Given the description of an element on the screen output the (x, y) to click on. 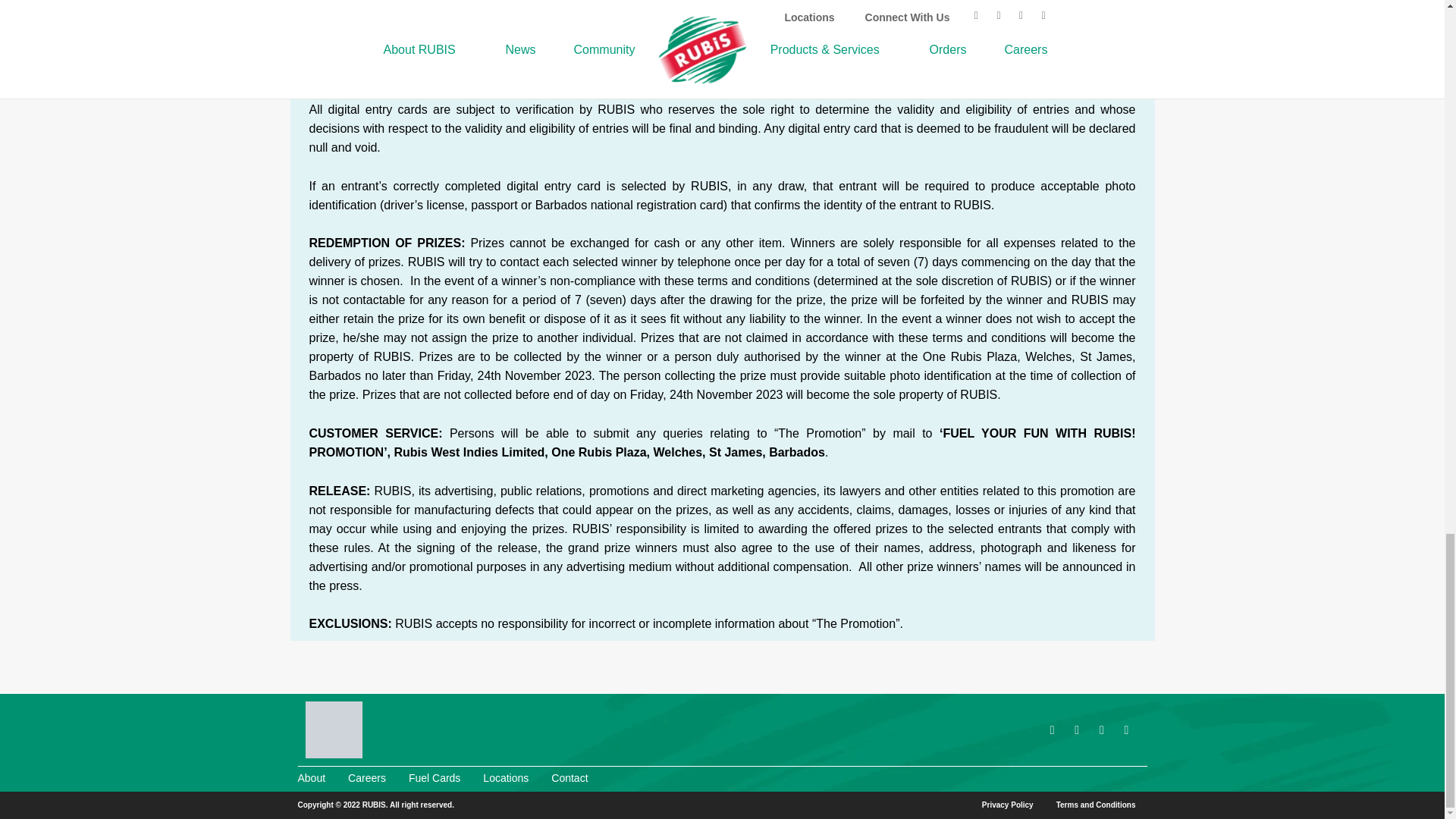
RUBIS LOGO-WHITE-02 (332, 729)
